Given the description of an element on the screen output the (x, y) to click on. 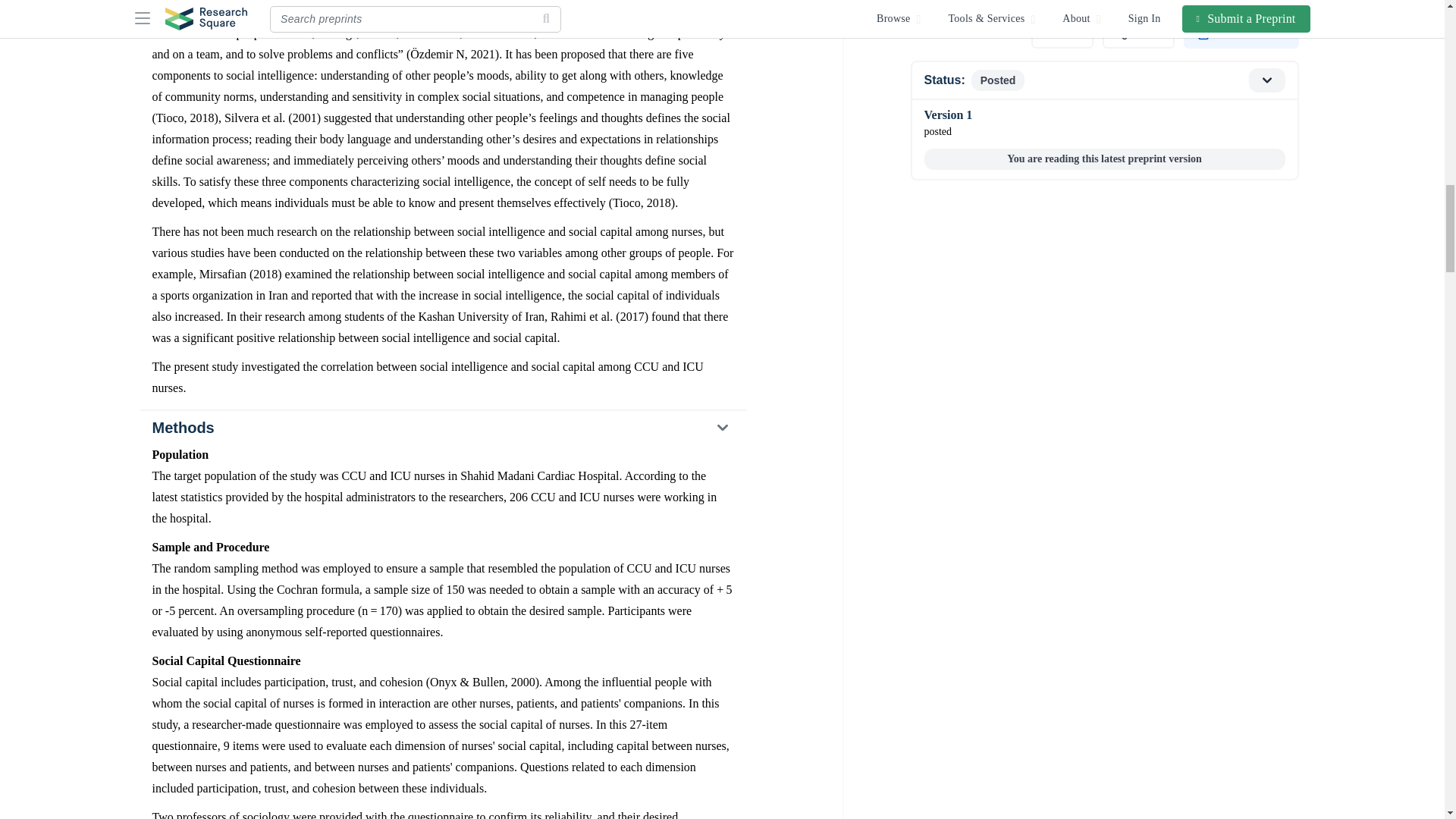
Methods (442, 427)
